Given the description of an element on the screen output the (x, y) to click on. 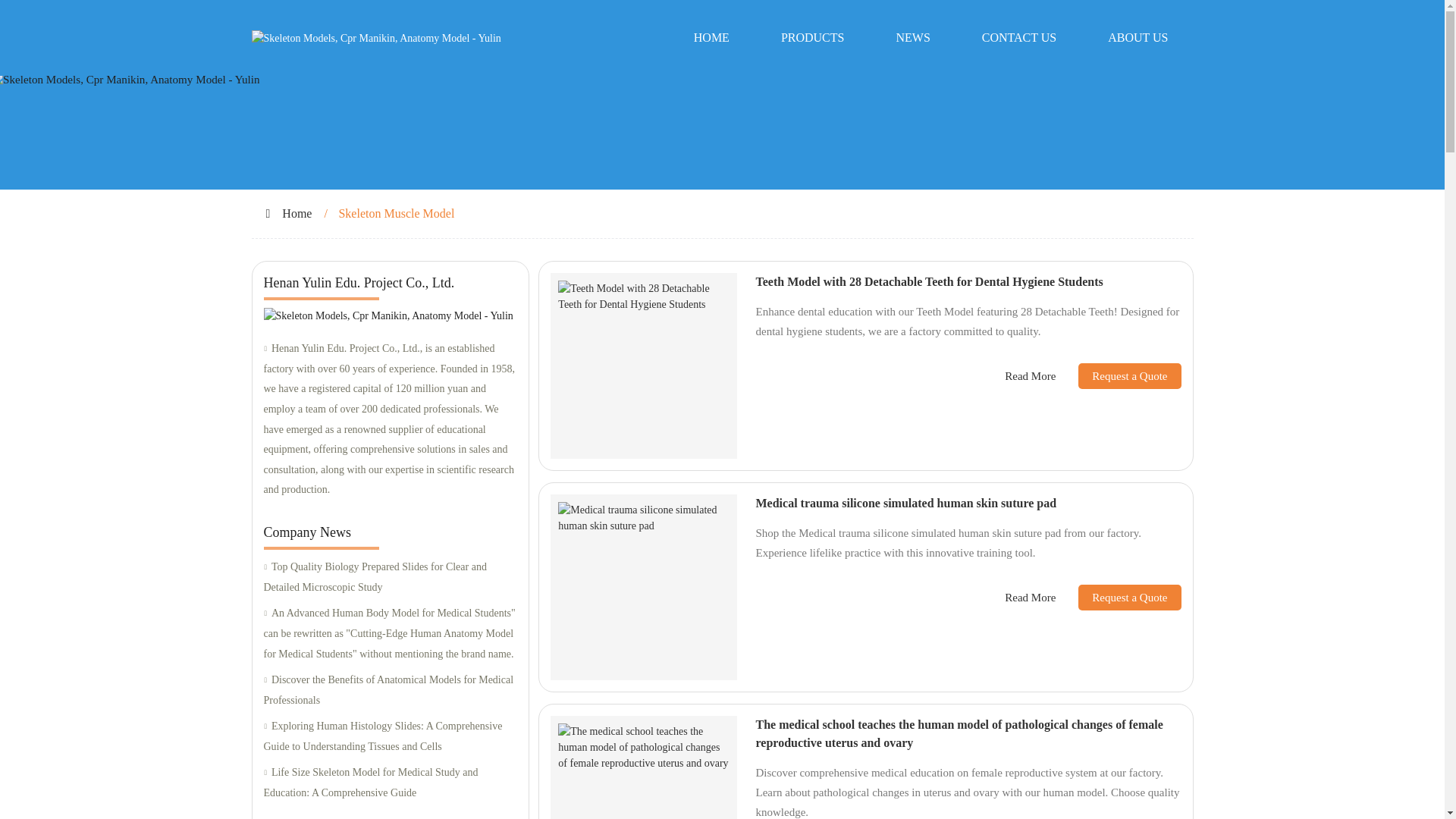
Request a Quote (1117, 376)
PRODUCTS (812, 38)
Read More (1029, 375)
Read More (1029, 597)
Home (296, 213)
